Given the description of an element on the screen output the (x, y) to click on. 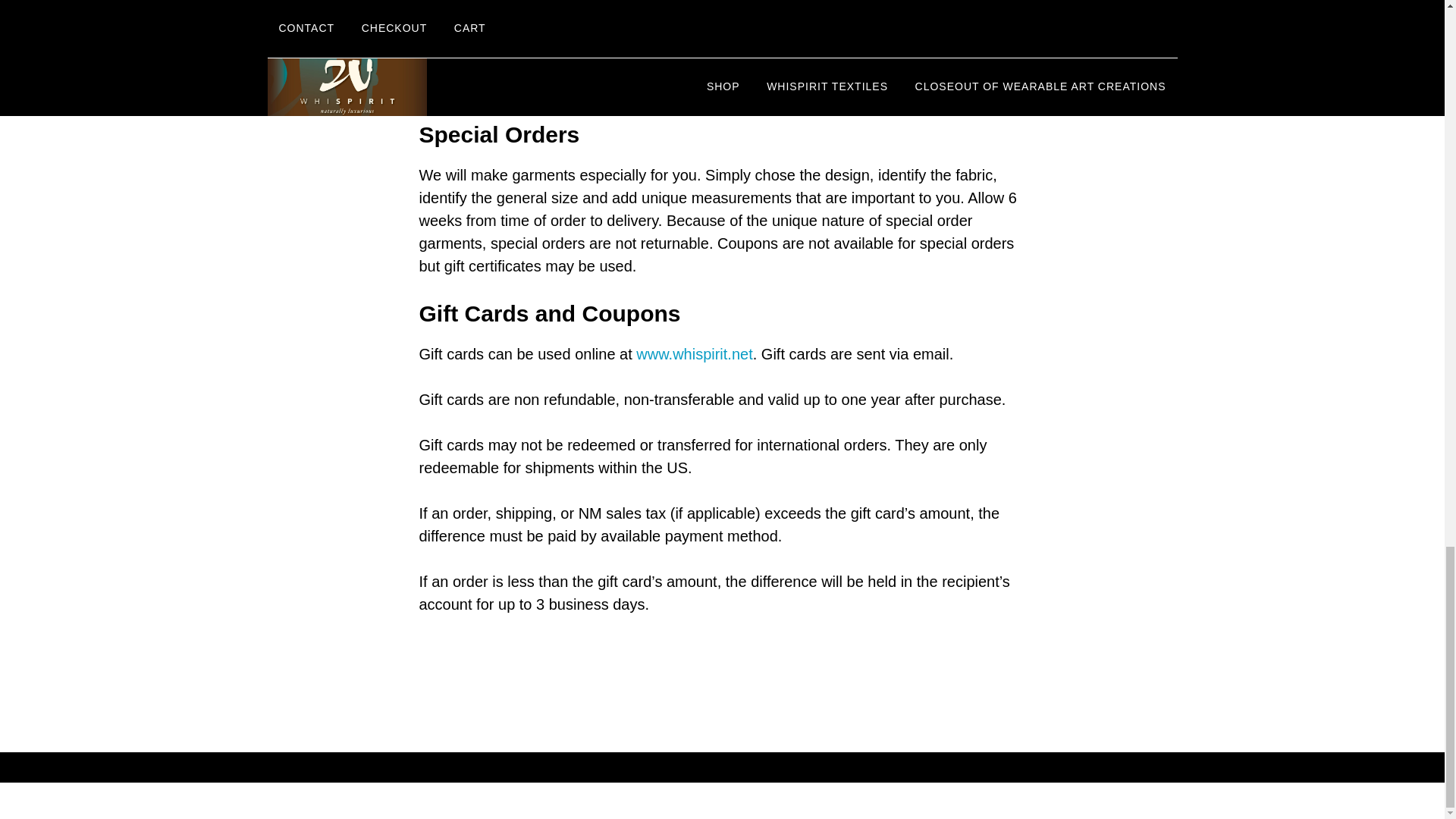
www.whispirit.net (694, 353)
our sizing chart, (748, 41)
